Given the description of an element on the screen output the (x, y) to click on. 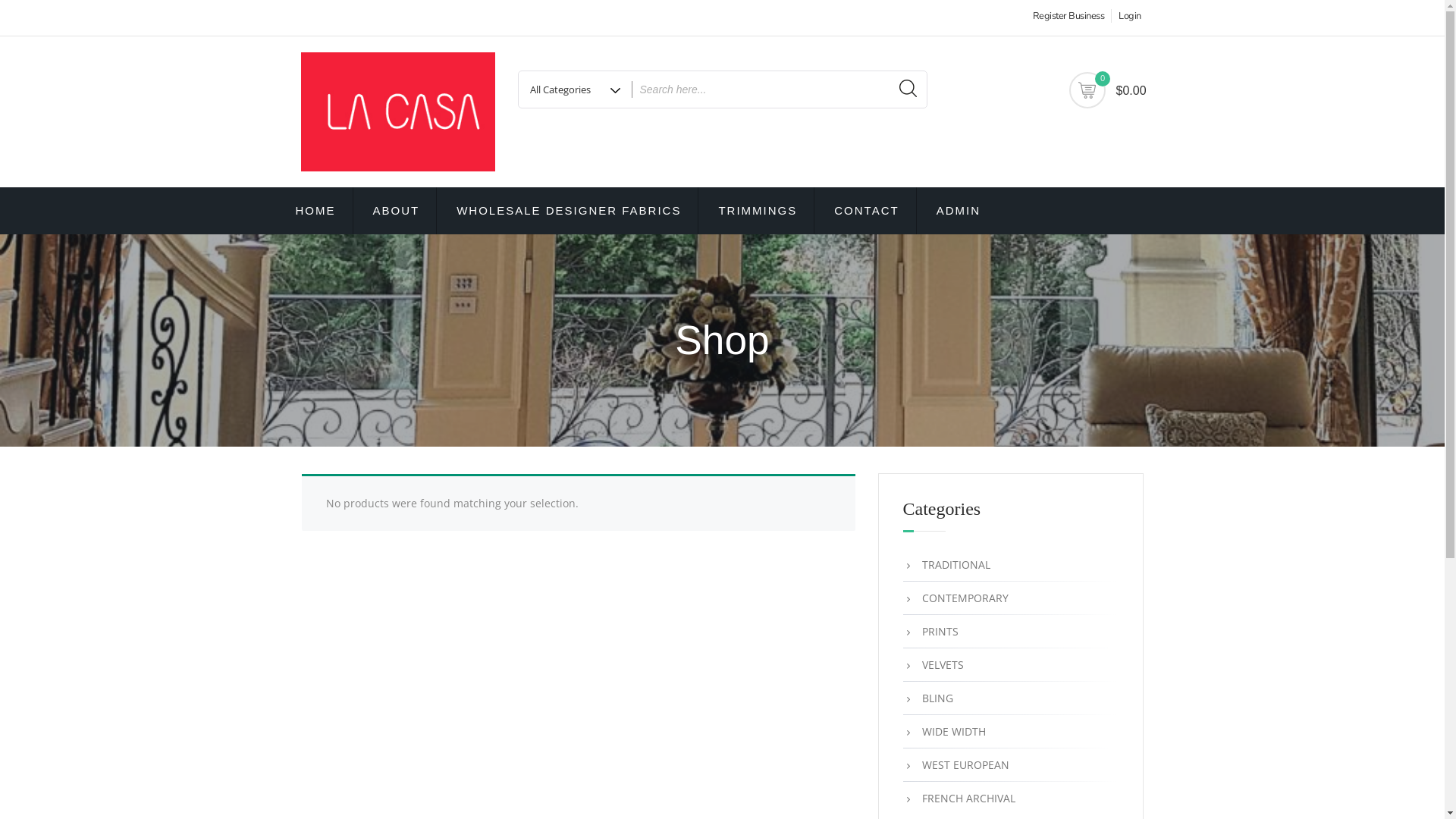
TRIMMINGS Element type: text (757, 210)
CONTACT Element type: text (866, 210)
WHOLESALE DESIGNER FABRICS Element type: text (568, 210)
Login Element type: text (1125, 15)
CONTEMPORARY Element type: text (1020, 598)
VELVETS Element type: text (1020, 664)
Register Business Element type: text (1066, 15)
ABOUT Element type: text (396, 210)
FRENCH ARCHIVAL Element type: text (1020, 798)
0
$0.00 Element type: text (1087, 90)
TRADITIONAL Element type: text (1020, 564)
WEST EUROPEAN Element type: text (1020, 765)
PRINTS Element type: text (1020, 631)
WIDE WIDTH Element type: text (1020, 731)
ADMIN Element type: text (958, 210)
BLING Element type: text (1020, 698)
HOME Element type: text (316, 210)
